Given the description of an element on the screen output the (x, y) to click on. 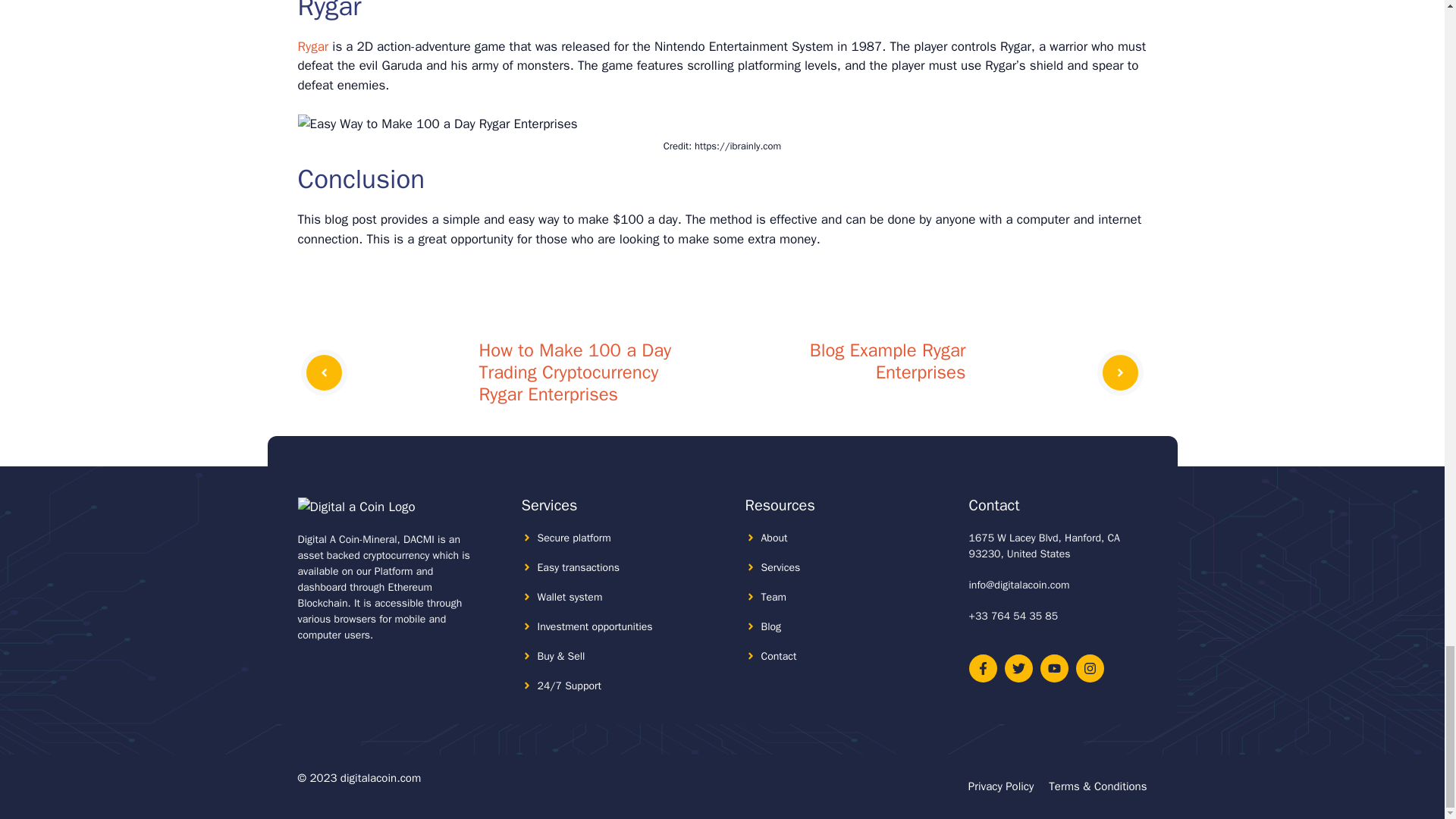
Wallet system (569, 596)
opportunities (621, 626)
Privacy Policy (1000, 786)
Secure platform (573, 537)
Investment (562, 626)
Blog (771, 626)
Contact (778, 656)
Digital a Coin Logo (355, 506)
Team (774, 596)
